Given the description of an element on the screen output the (x, y) to click on. 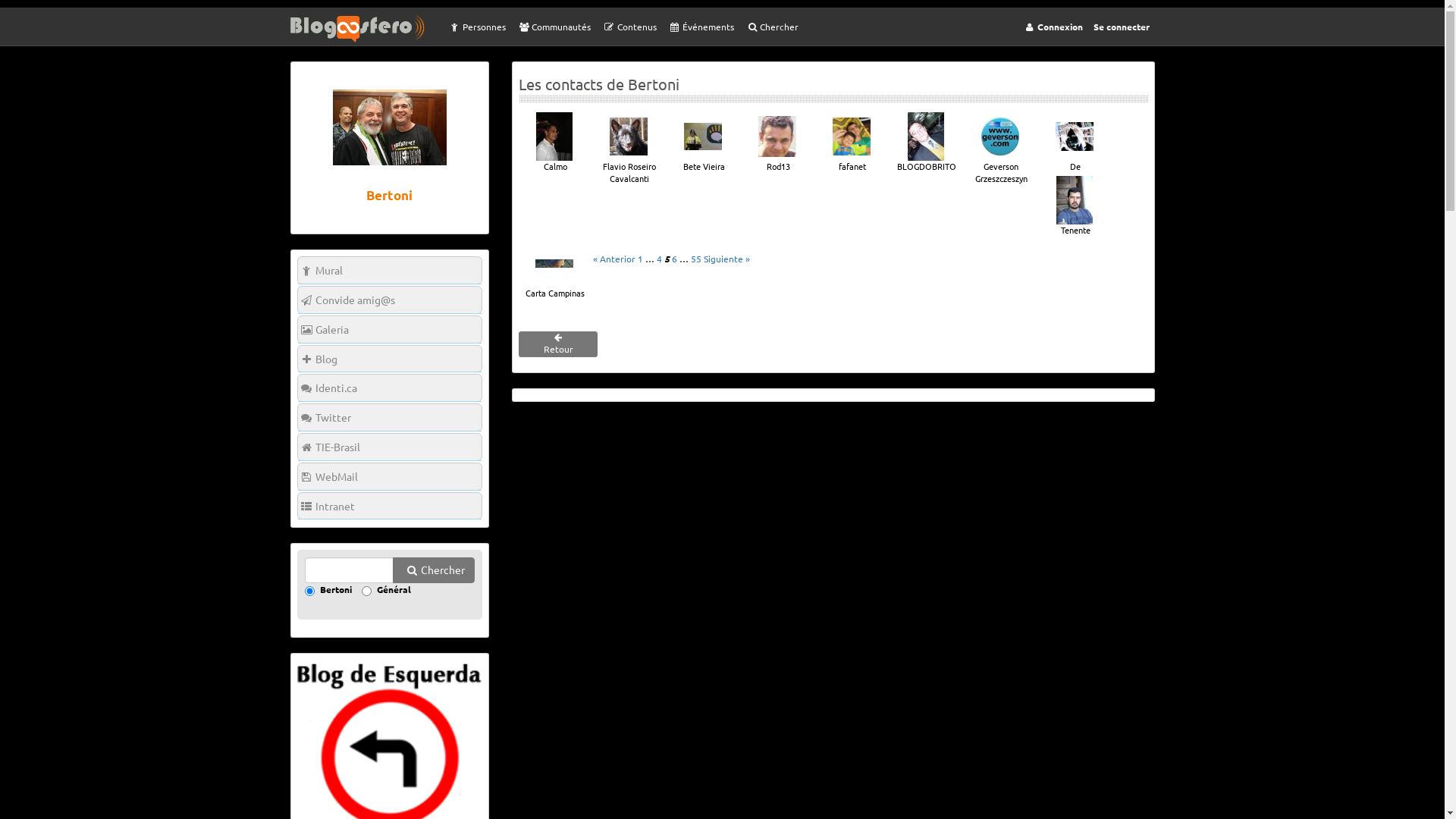
Carta Campinas Element type: text (554, 269)
Chercher Element type: text (433, 570)
Connexion Element type: text (1051, 26)
Bete Vieira Element type: text (702, 142)
Tenente Element type: text (1074, 206)
Convide amig@s Element type: text (389, 299)
4 Element type: text (659, 258)
De Element type: text (1074, 142)
Twitter Element type: text (389, 417)
Intranet Element type: text (389, 505)
Chercher Element type: text (771, 26)
55 Element type: text (695, 258)
WebMail Element type: text (389, 476)
Galeria Element type: text (389, 329)
TIE-Brasil Element type: text (389, 446)
fafanet Element type: text (851, 142)
Rod13 Element type: text (777, 142)
Contenus Element type: text (628, 26)
Mural Element type: text (389, 270)
6 Element type: text (674, 258)
Trouver dans le contenu de Bertoni Element type: hover (309, 591)
Retour Element type: text (557, 344)
Blog Element type: text (389, 358)
Trouver dans le contenu de Bertoni Element type: hover (349, 570)
BLOGDOBRITO Element type: text (925, 142)
Blogoosfero Element type: text (365, 28)
1 Element type: text (640, 258)
Calmo Element type: text (554, 142)
Se connecter Element type: text (1120, 26)
Identi.ca Element type: text (389, 387)
Chercher dans tous les contenus Element type: hover (365, 591)
Flavio Roseiro Cavalcanti Element type: text (628, 148)
Geverson Grzeszczeszyn Element type: text (1000, 148)
Personnes Element type: text (475, 26)
